Given the description of an element on the screen output the (x, y) to click on. 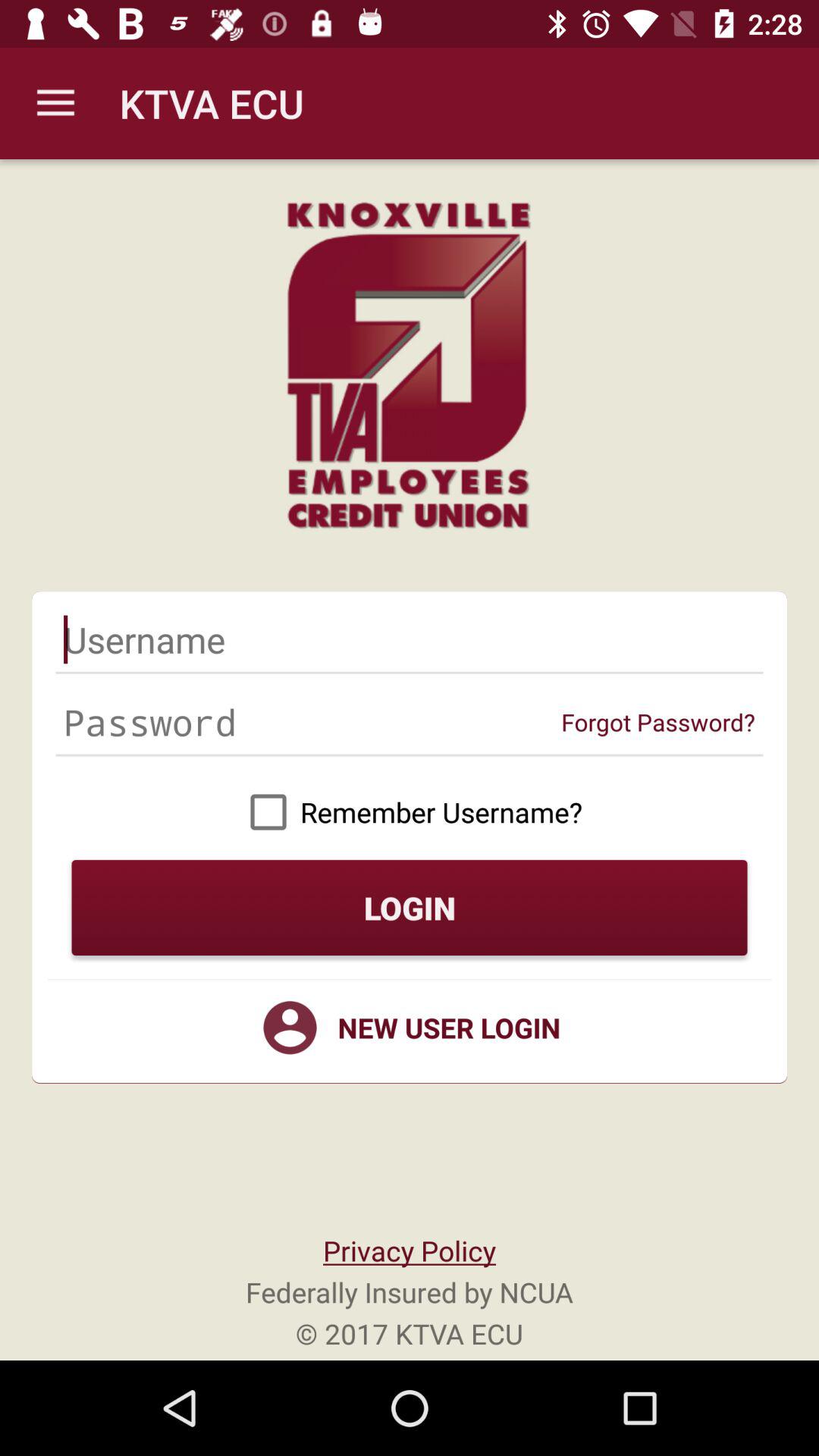
tap icon above federally insured by icon (409, 1250)
